Given the description of an element on the screen output the (x, y) to click on. 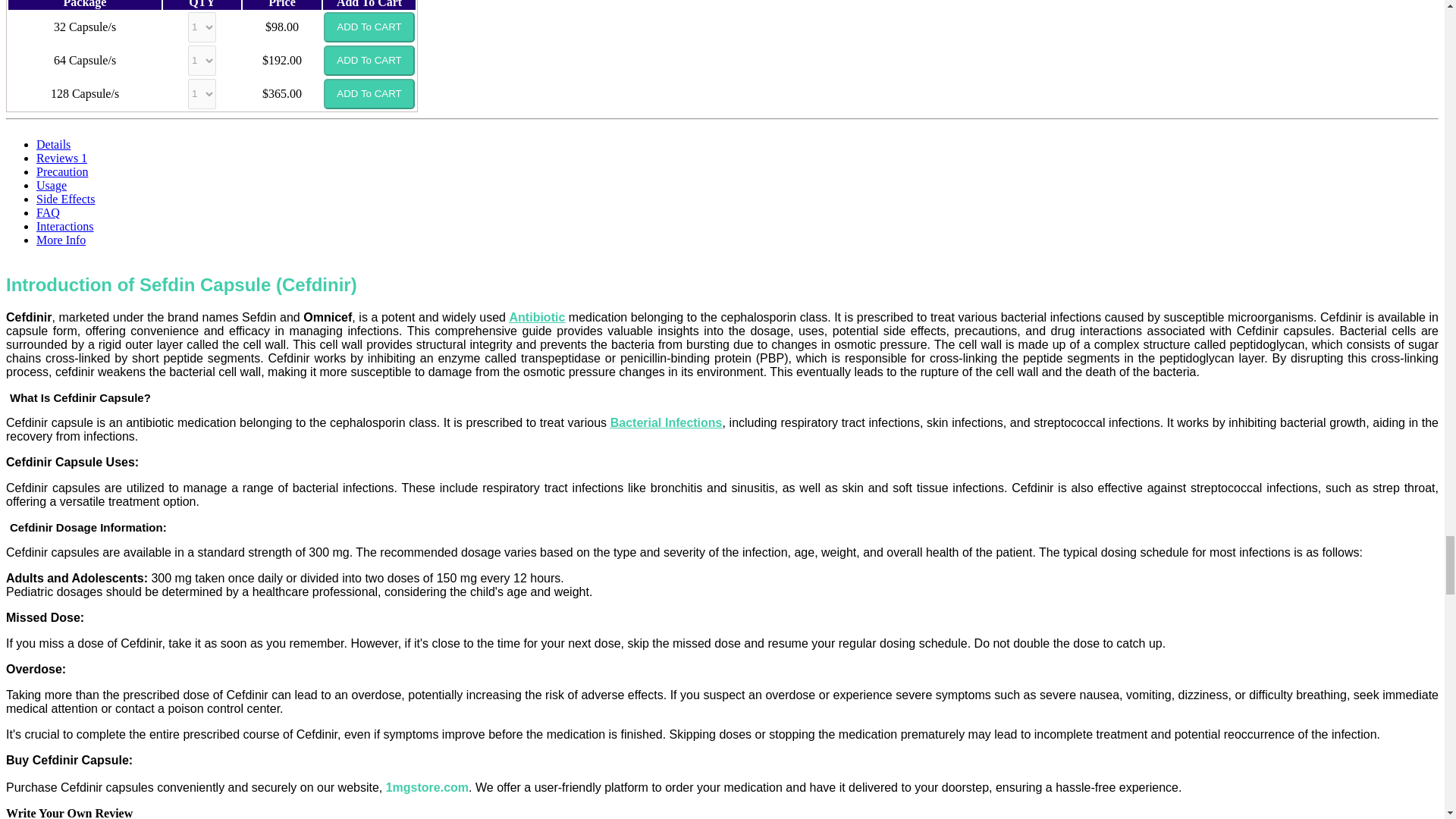
Bacterial Infections (666, 422)
Antibiotics (537, 317)
